Given the description of an element on the screen output the (x, y) to click on. 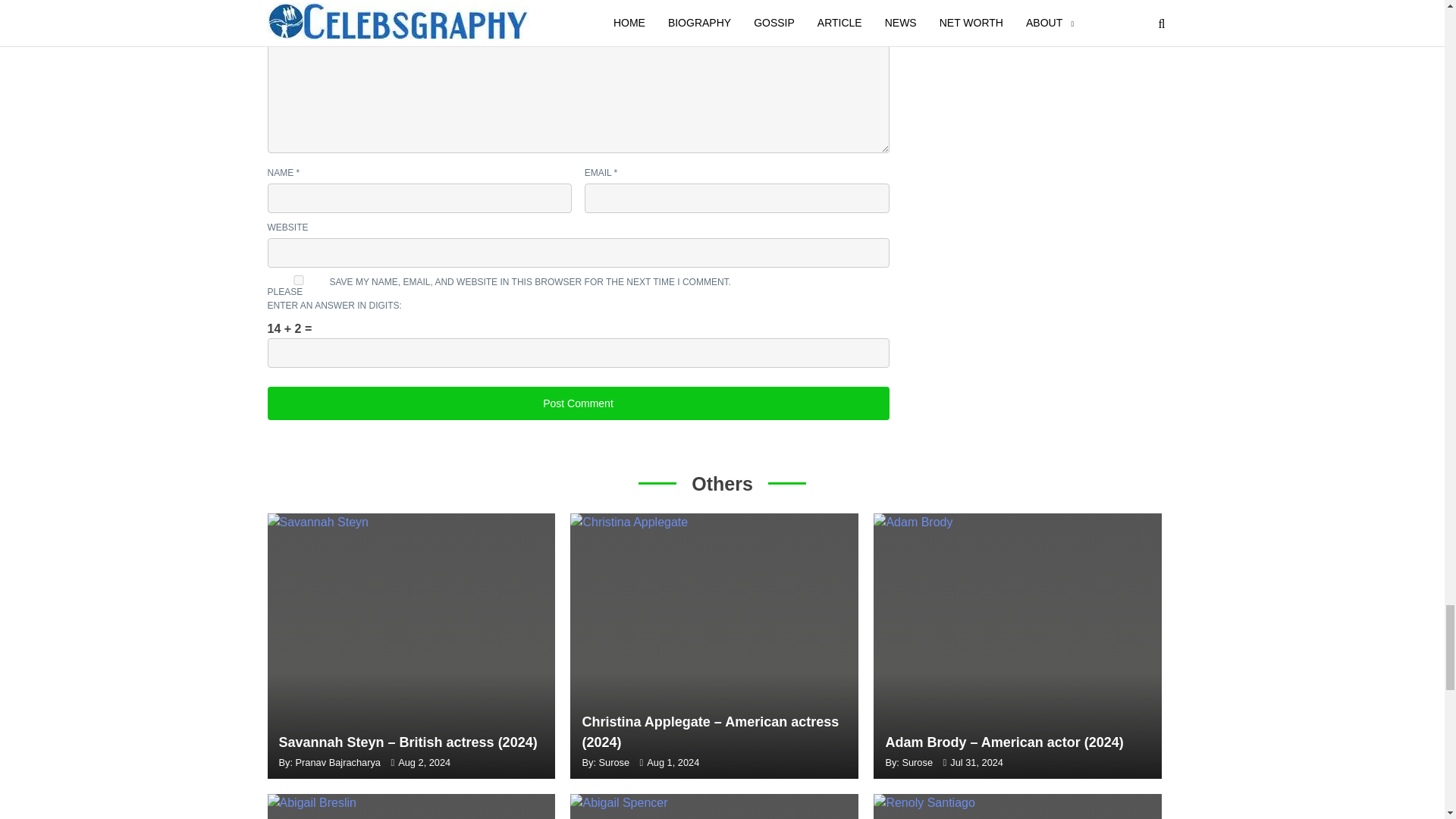
yes (297, 280)
Post Comment (577, 403)
